Given the description of an element on the screen output the (x, y) to click on. 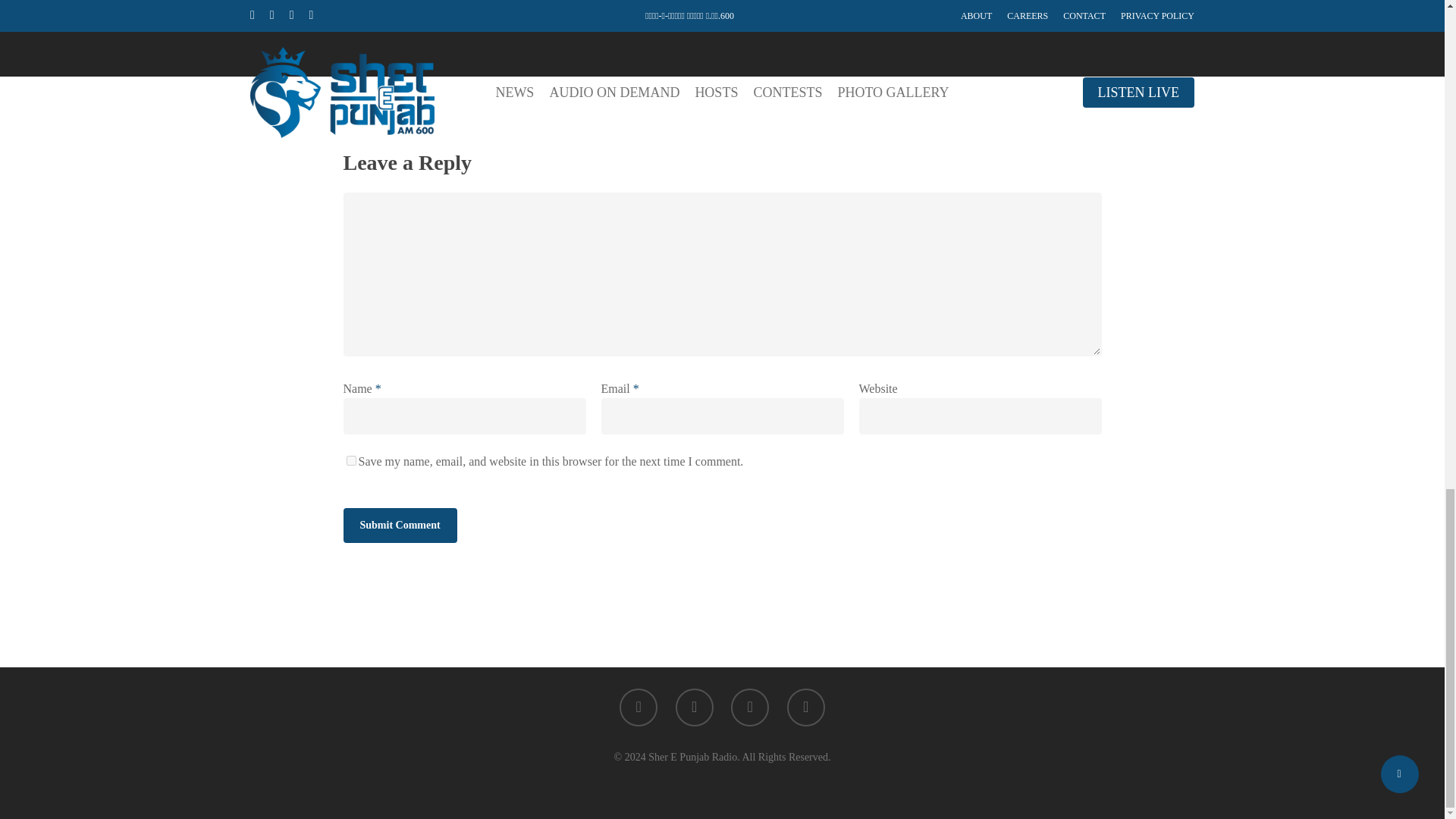
yes (350, 460)
Submit Comment (399, 524)
Submit Comment (399, 524)
